Given the description of an element on the screen output the (x, y) to click on. 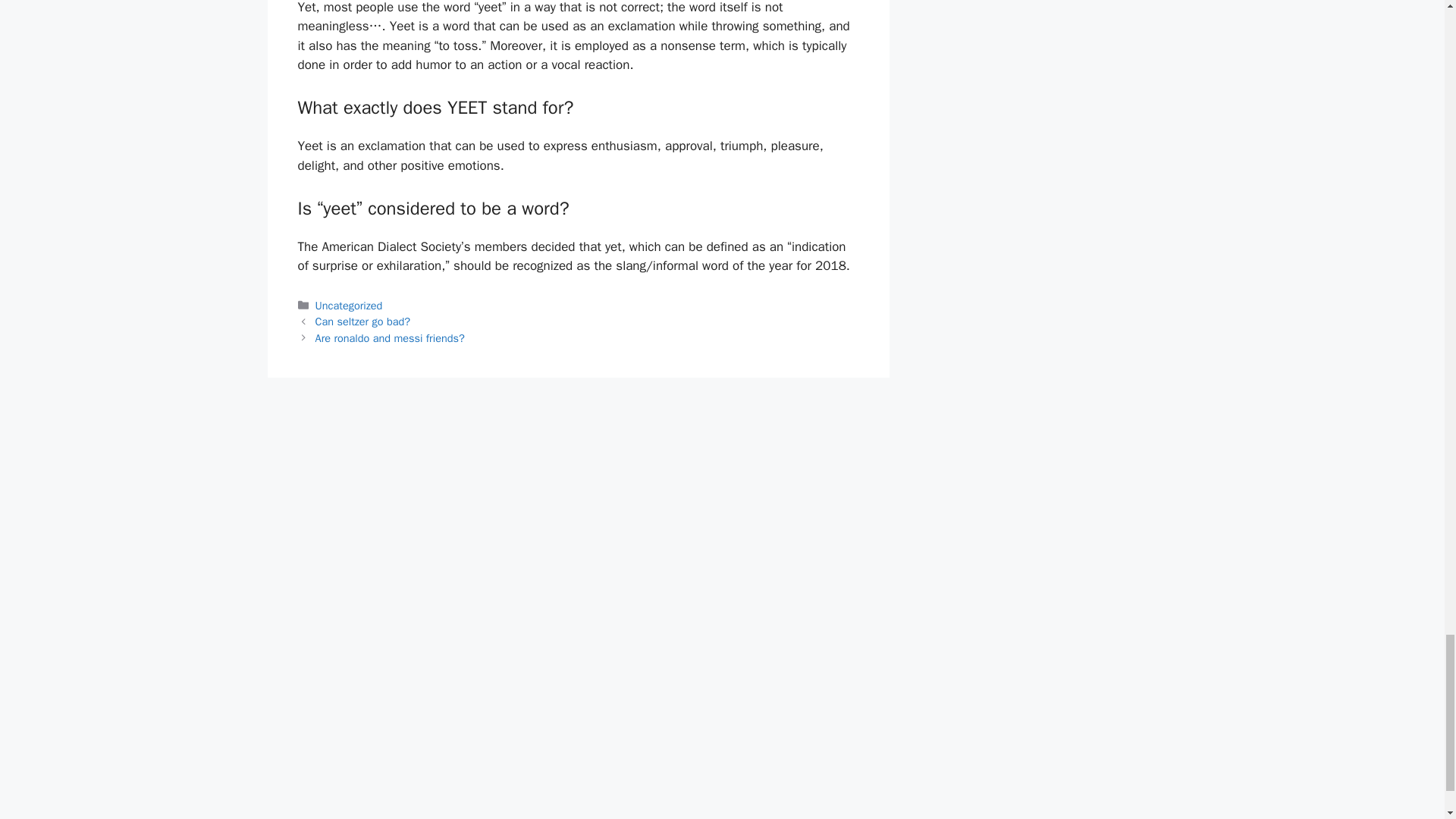
Can seltzer go bad? (362, 321)
Next (389, 337)
Uncategorized (348, 305)
Are ronaldo and messi friends? (389, 337)
Previous (362, 321)
